Given the description of an element on the screen output the (x, y) to click on. 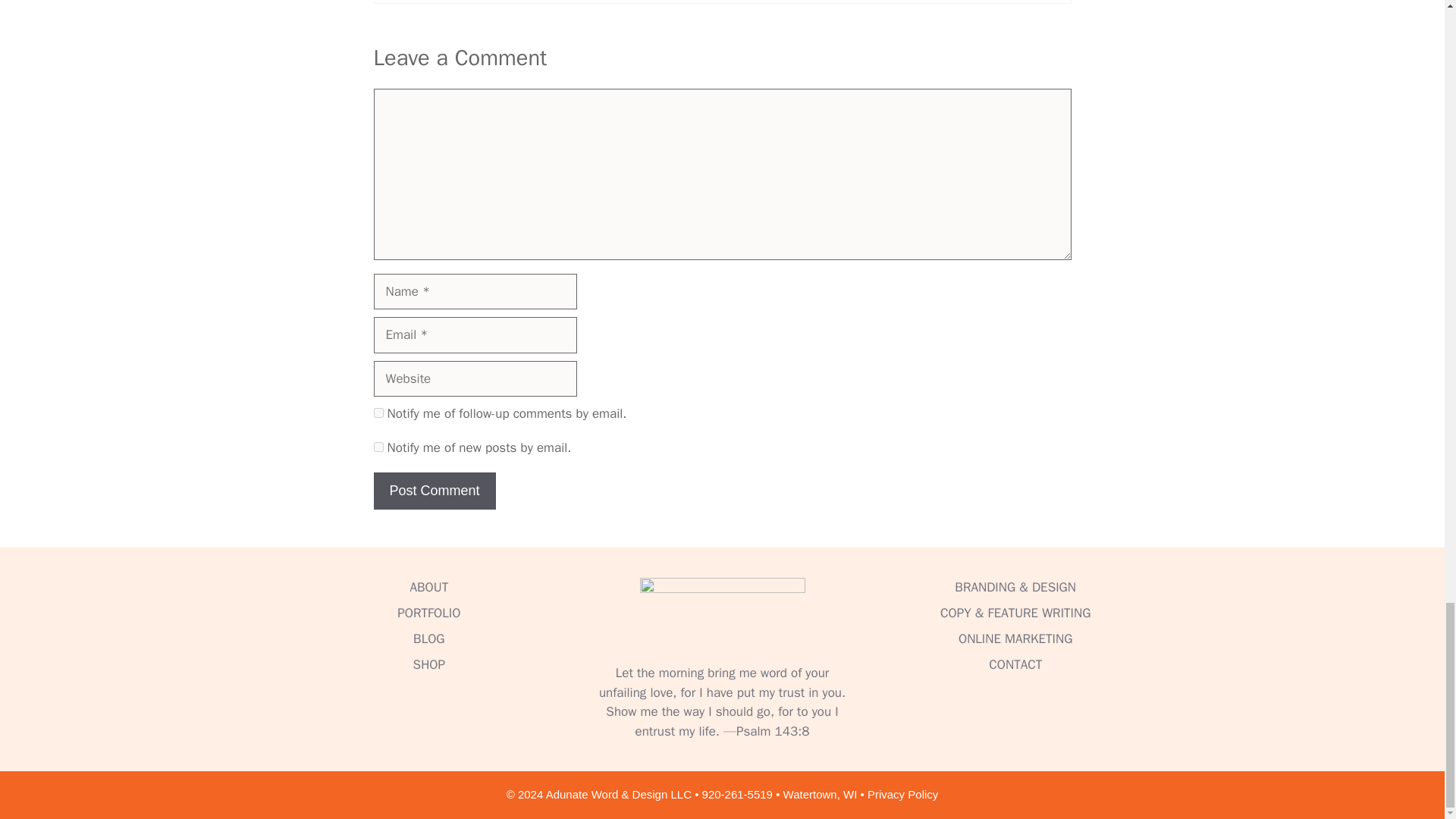
Post Comment (433, 490)
subscribe (377, 447)
subscribe (377, 412)
